Given the description of an element on the screen output the (x, y) to click on. 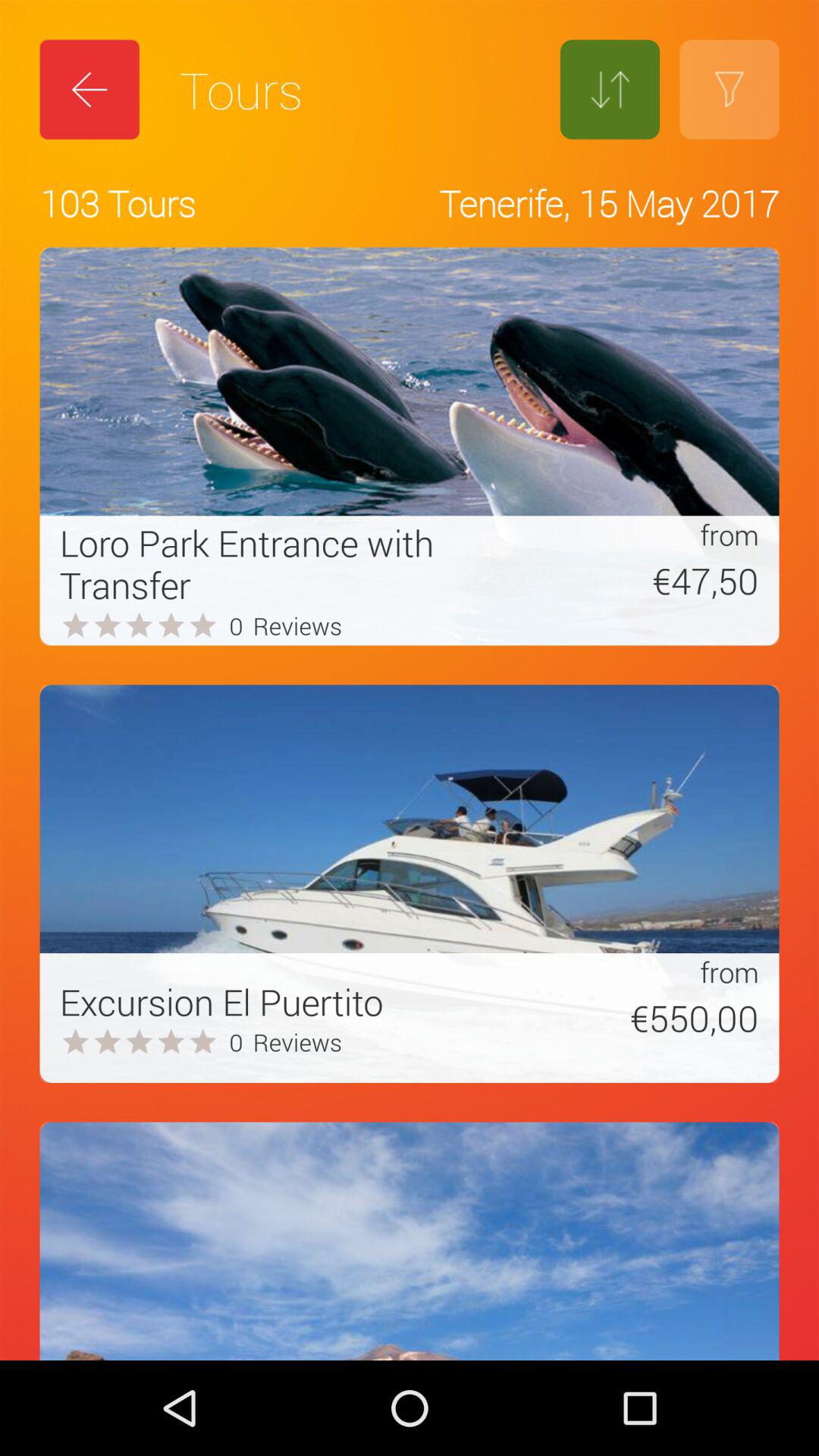
flip until the excursion el puertito icon (221, 1001)
